Given the description of an element on the screen output the (x, y) to click on. 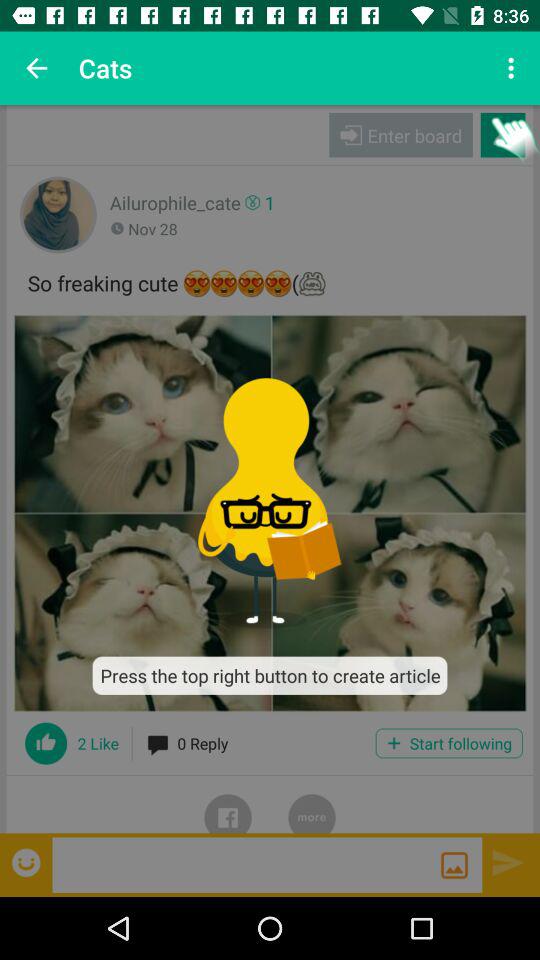
scroll until start following icon (448, 743)
